Given the description of an element on the screen output the (x, y) to click on. 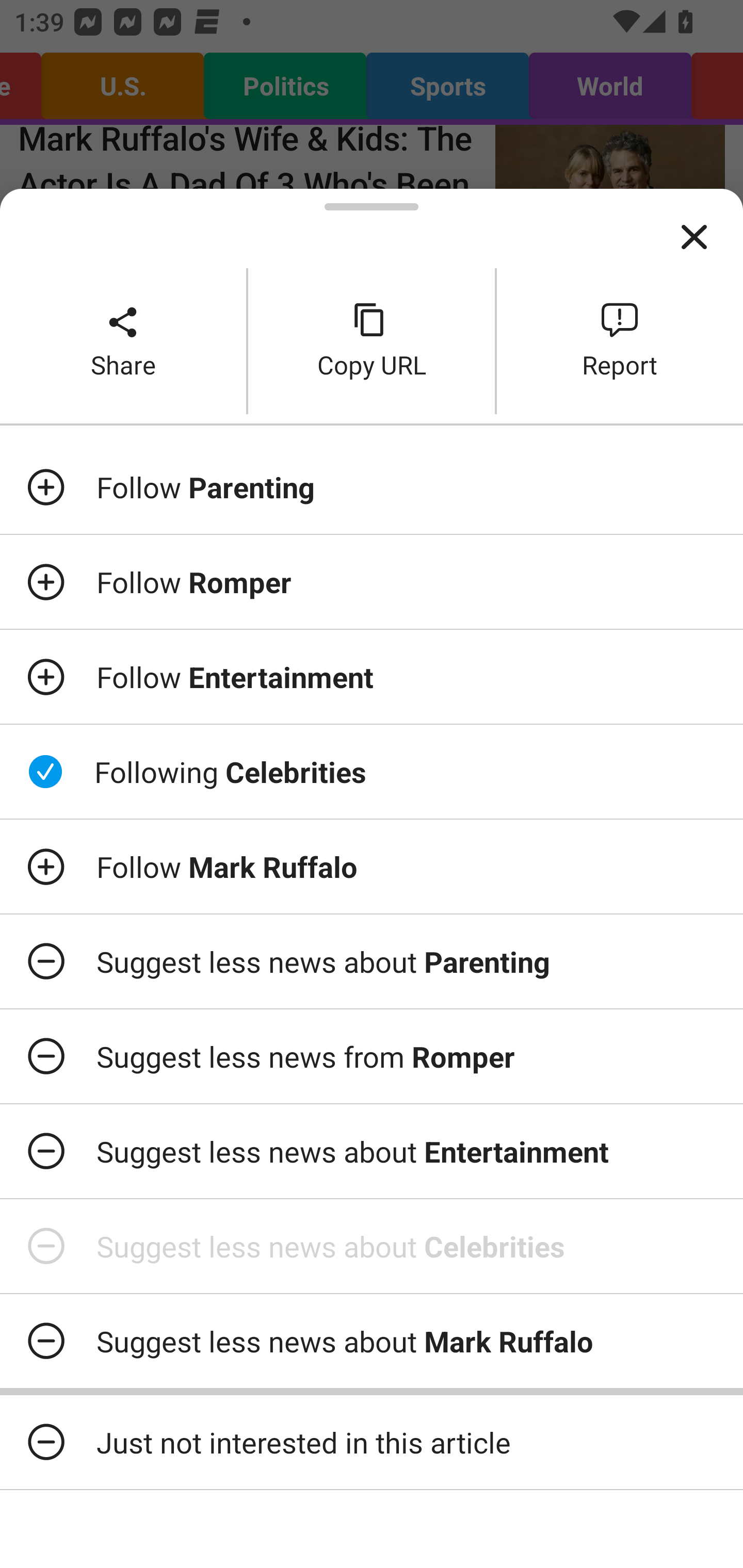
Close (694, 237)
Share (122, 340)
Copy URL (371, 340)
Report (620, 340)
Follow Parenting (371, 486)
Follow Romper (371, 581)
Follow Entertainment (371, 677)
Following Celebrities (371, 771)
Follow Mark Ruffalo (371, 867)
Suggest less news about Parenting (371, 961)
Suggest less news from Romper (371, 1056)
Suggest less news about Entertainment (371, 1150)
Suggest less news about Mark Ruffalo (371, 1340)
Just not interested in this article (371, 1442)
